Given the description of an element on the screen output the (x, y) to click on. 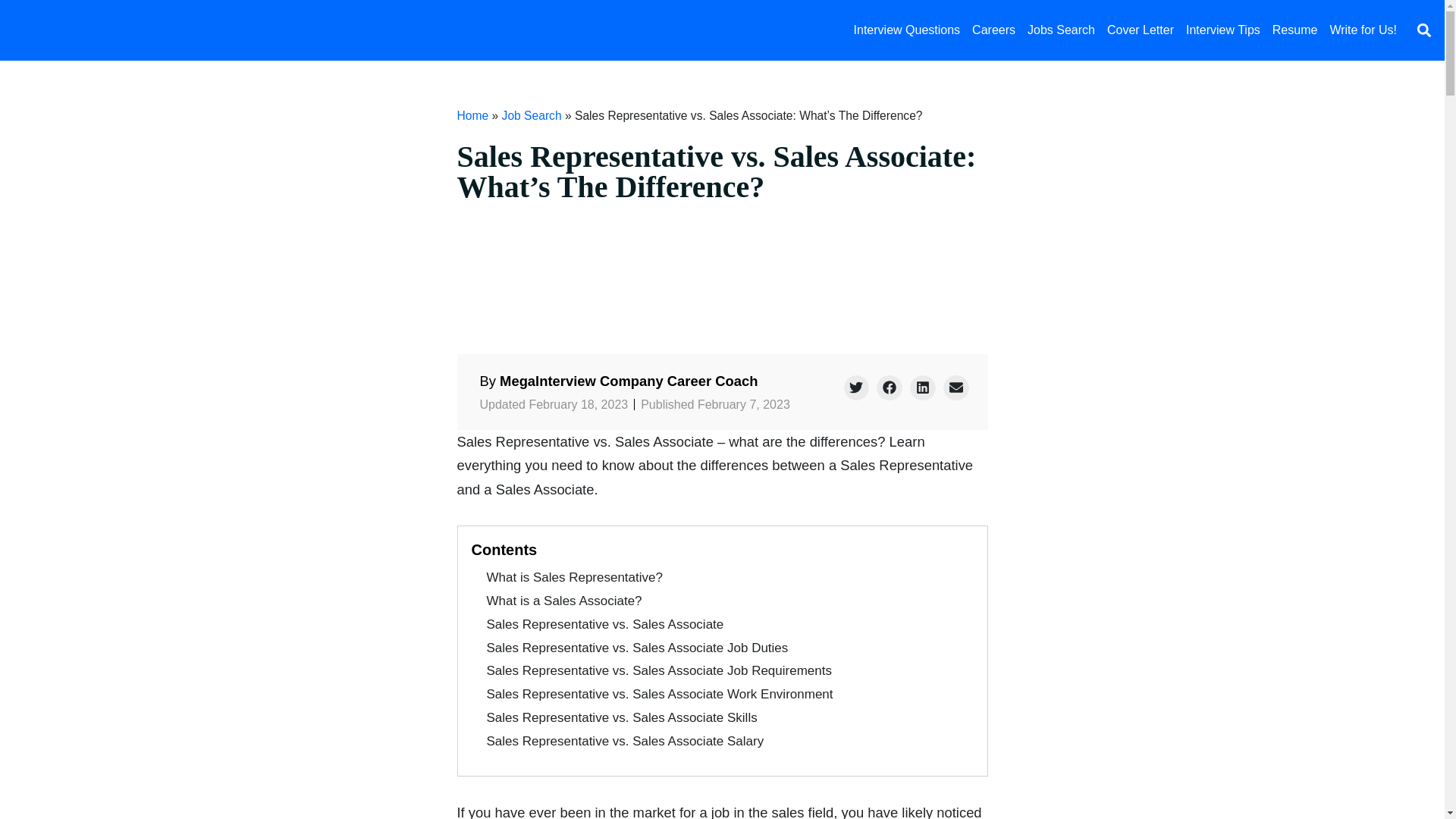
Jobs Search (1060, 30)
Cover Letter (1139, 30)
Interview Questions (906, 30)
megainterview-logo-svg (101, 30)
